Given the description of an element on the screen output the (x, y) to click on. 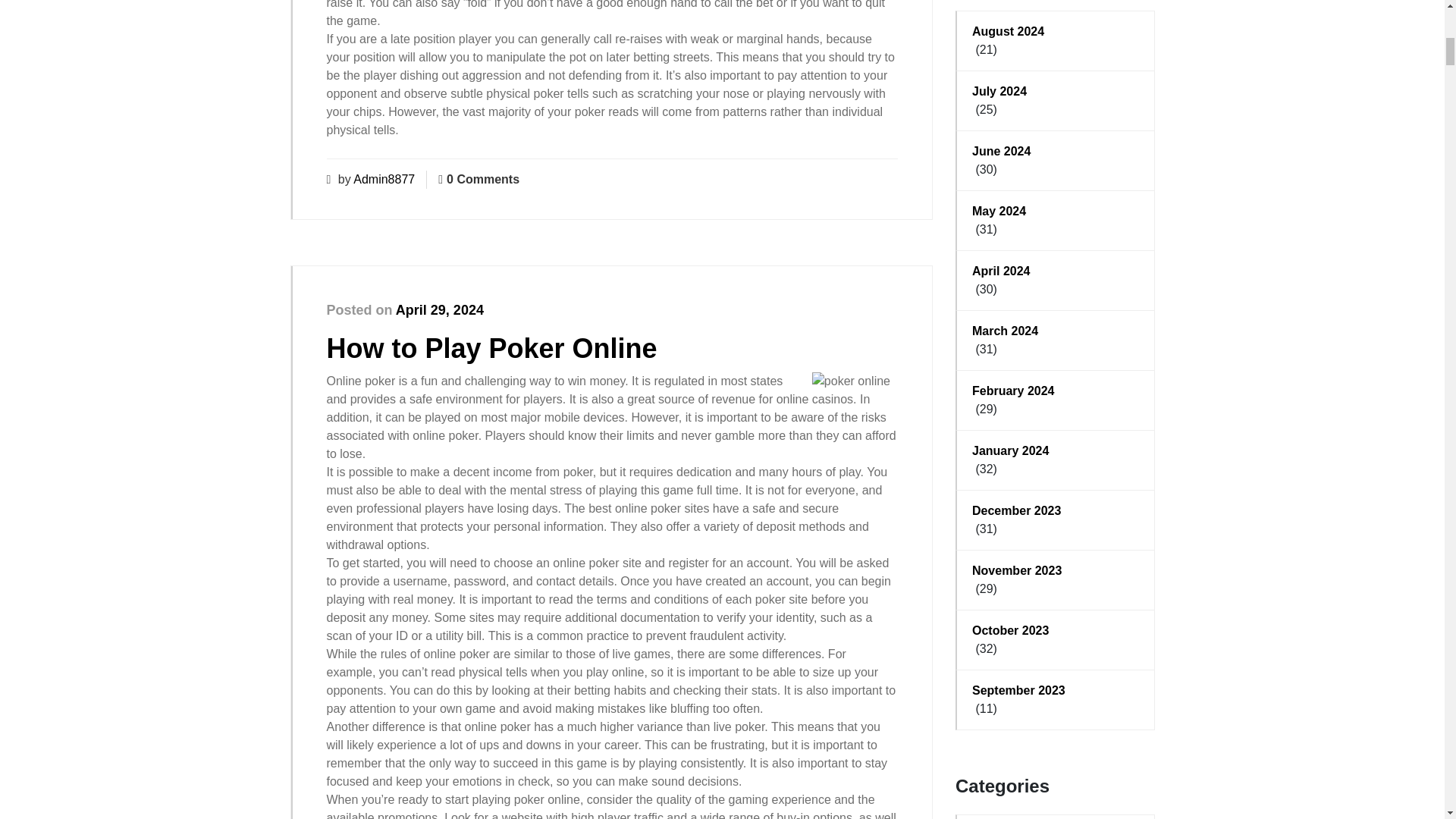
Admin8877 (383, 178)
How to Play Poker Online (491, 347)
April 29, 2024 (439, 309)
